Given the description of an element on the screen output the (x, y) to click on. 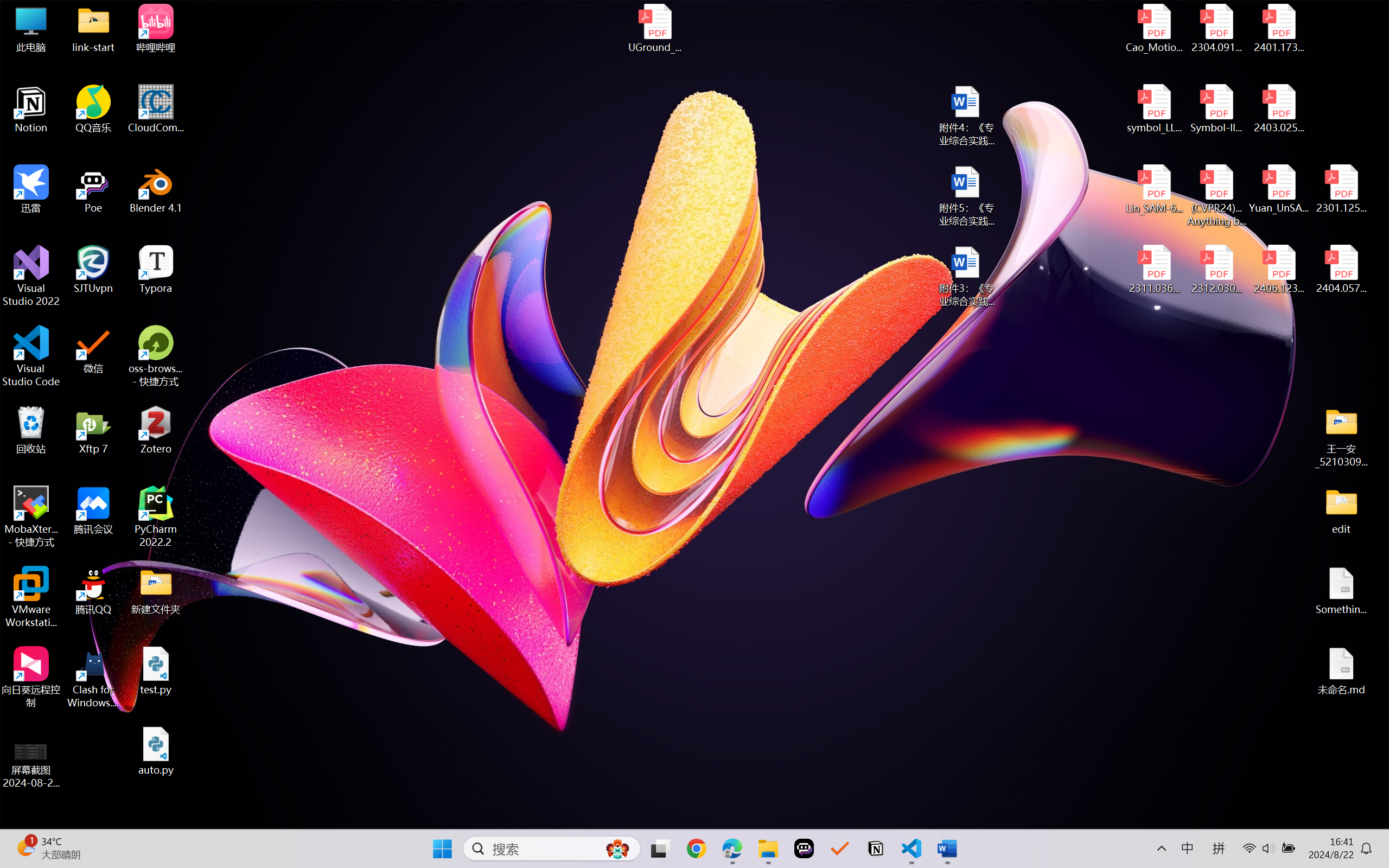
auto.py (156, 751)
PyCharm 2022.2 (156, 516)
CloudCompare (156, 109)
2311.03658v2.pdf (1154, 269)
2301.12597v3.pdf (1340, 189)
